Given the description of an element on the screen output the (x, y) to click on. 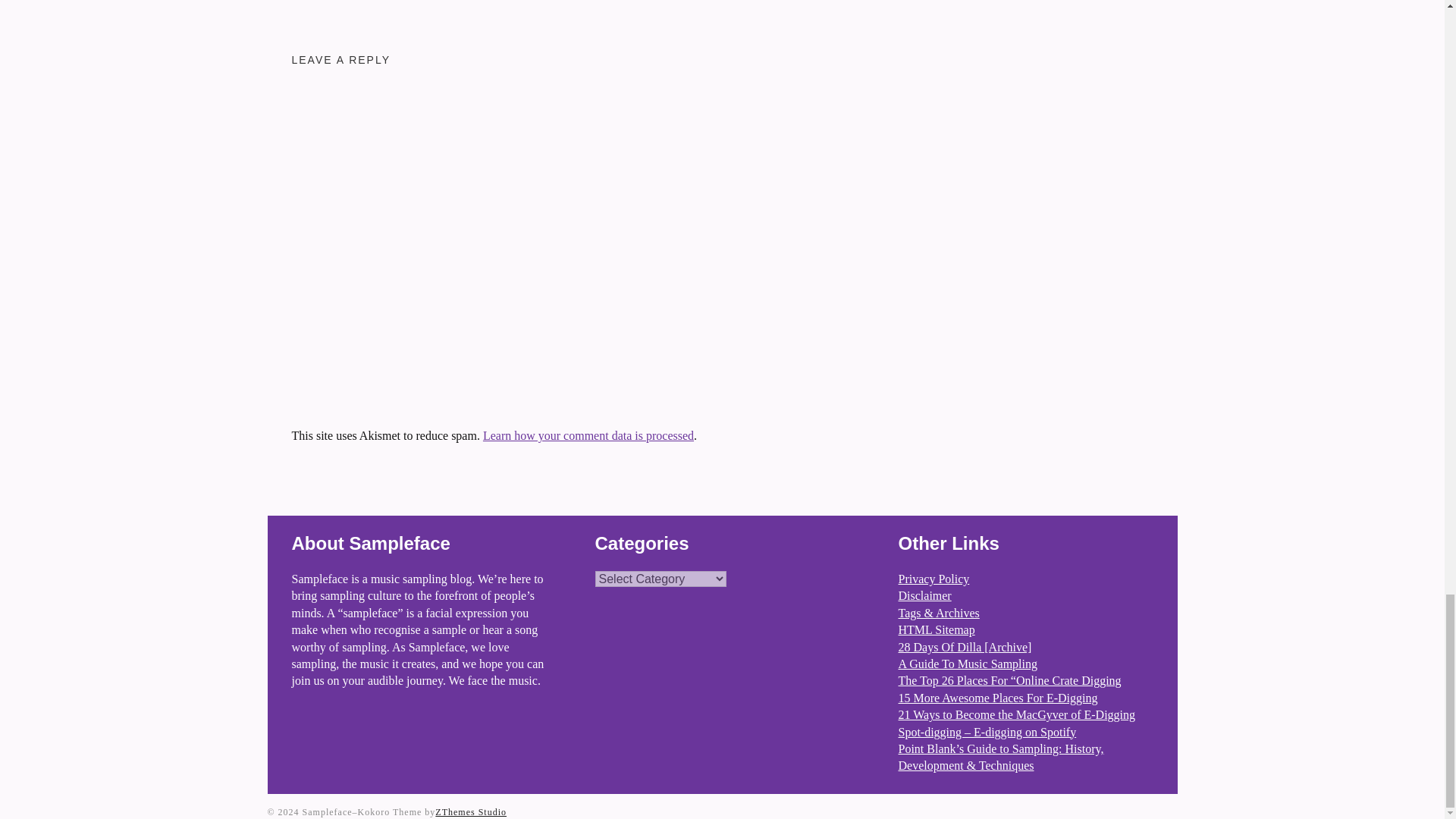
Privacy Policy (933, 578)
Disclaimer (924, 594)
A Guide To Music Sampling (967, 663)
HTML Sitemap (936, 629)
Learn how your comment data is processed (588, 435)
